Given the description of an element on the screen output the (x, y) to click on. 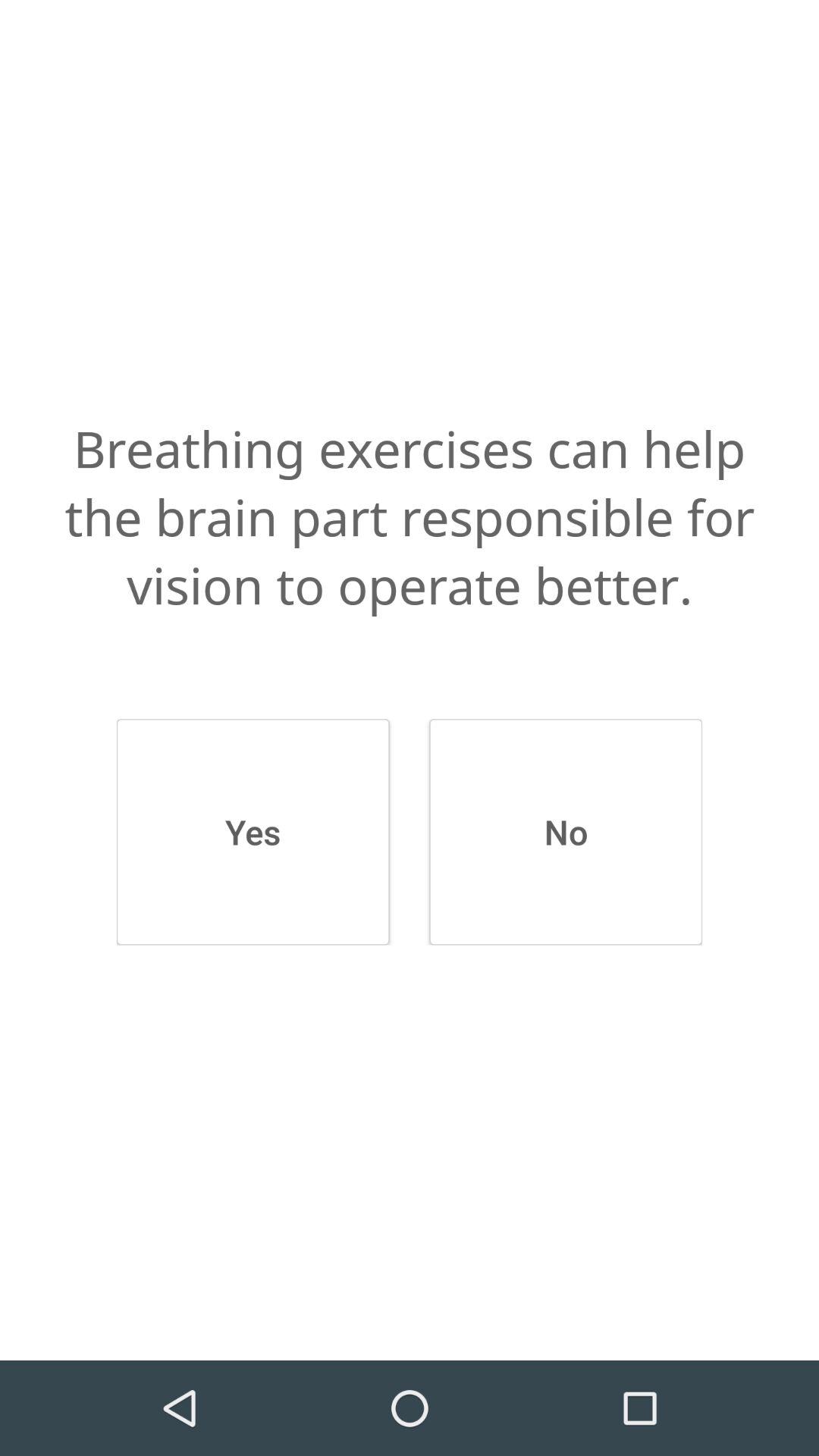
tap icon below the breathing exercises can app (252, 831)
